Given the description of an element on the screen output the (x, y) to click on. 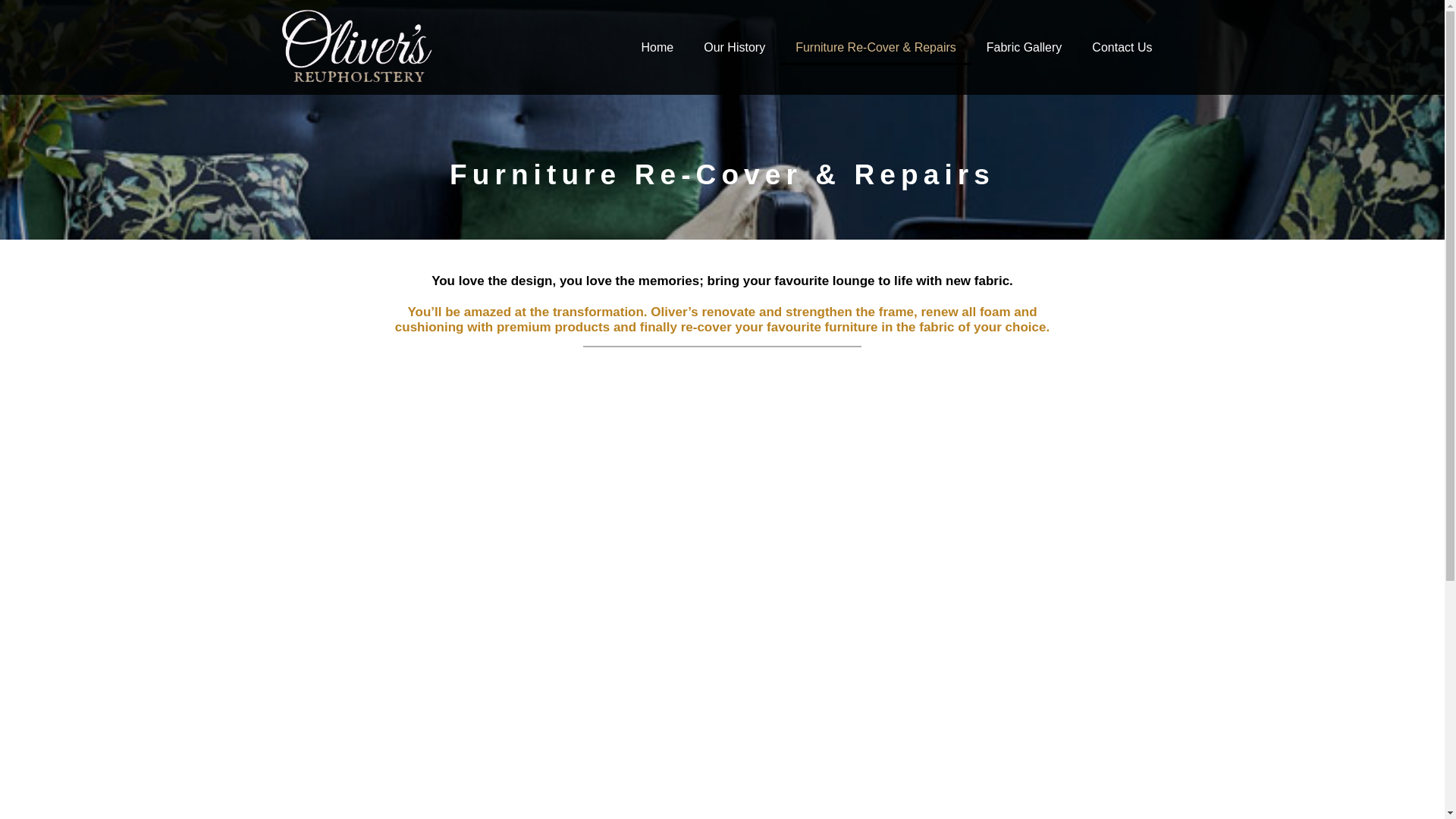
Our History (734, 47)
Home (657, 47)
Contact Us (1122, 47)
Fabric Gallery (1024, 47)
